Given the description of an element on the screen output the (x, y) to click on. 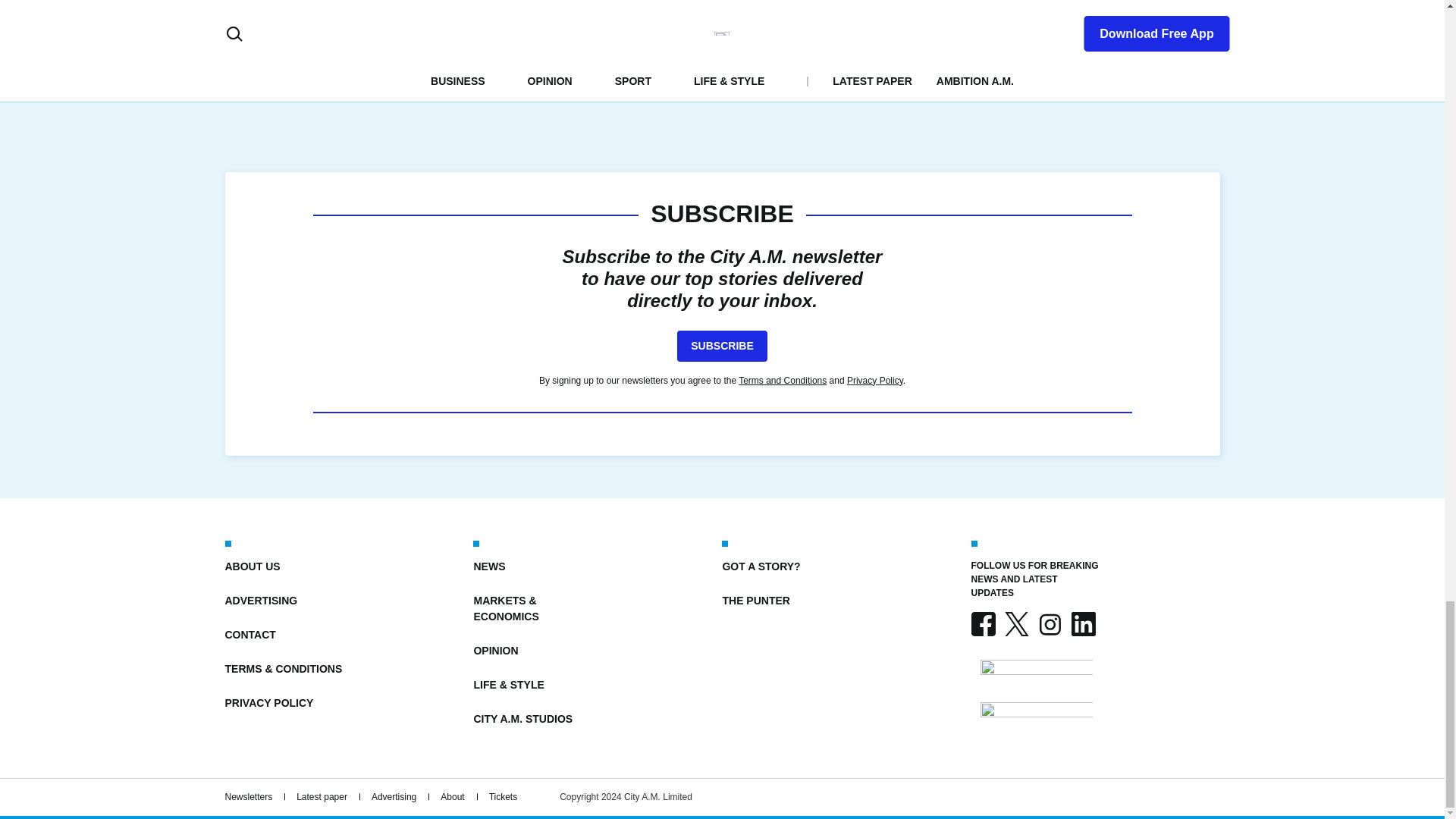
X (1015, 623)
LINKEDIN (1082, 623)
FACEBOOK (982, 623)
INSTAGRAM (1048, 623)
